Given the description of an element on the screen output the (x, y) to click on. 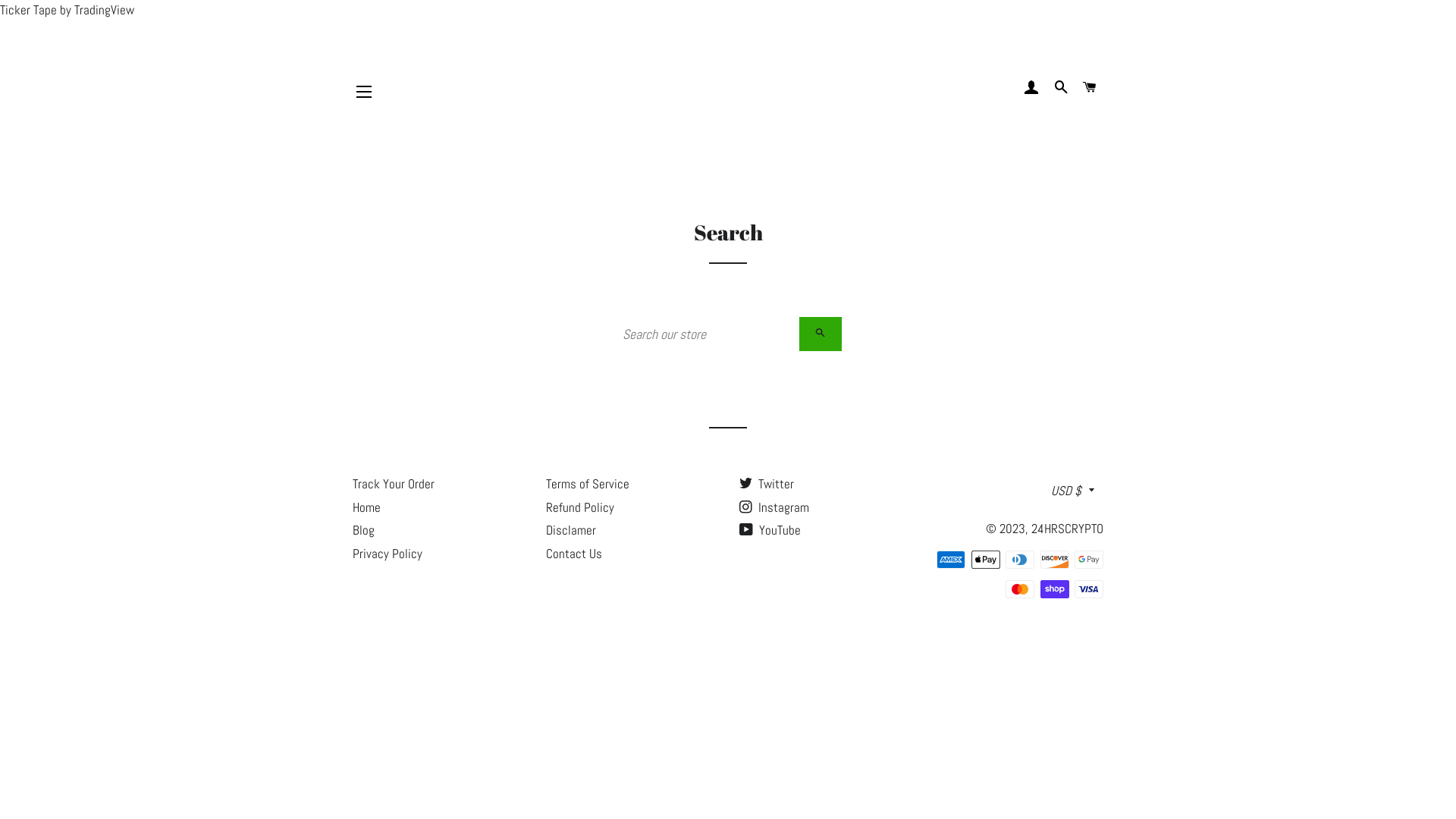
SITE NAVIGATION Element type: text (363, 91)
USD $ Element type: text (1072, 490)
YouTube Element type: text (769, 529)
Home Element type: text (366, 506)
Privacy Policy Element type: text (387, 553)
Track Your Order Element type: text (393, 483)
Instagram Element type: text (774, 506)
Terms of Service Element type: text (587, 483)
Ticker Tape Element type: text (28, 9)
CART Element type: text (1090, 87)
SEARCH Element type: text (820, 333)
Disclamer Element type: text (571, 529)
LOG IN Element type: text (1031, 87)
SEARCH Element type: text (1060, 87)
24HRSCRYPTO Element type: text (1067, 528)
Refund Policy Element type: text (580, 506)
Blog Element type: text (363, 529)
Twitter Element type: text (766, 483)
Contact Us Element type: text (574, 553)
